Given the description of an element on the screen output the (x, y) to click on. 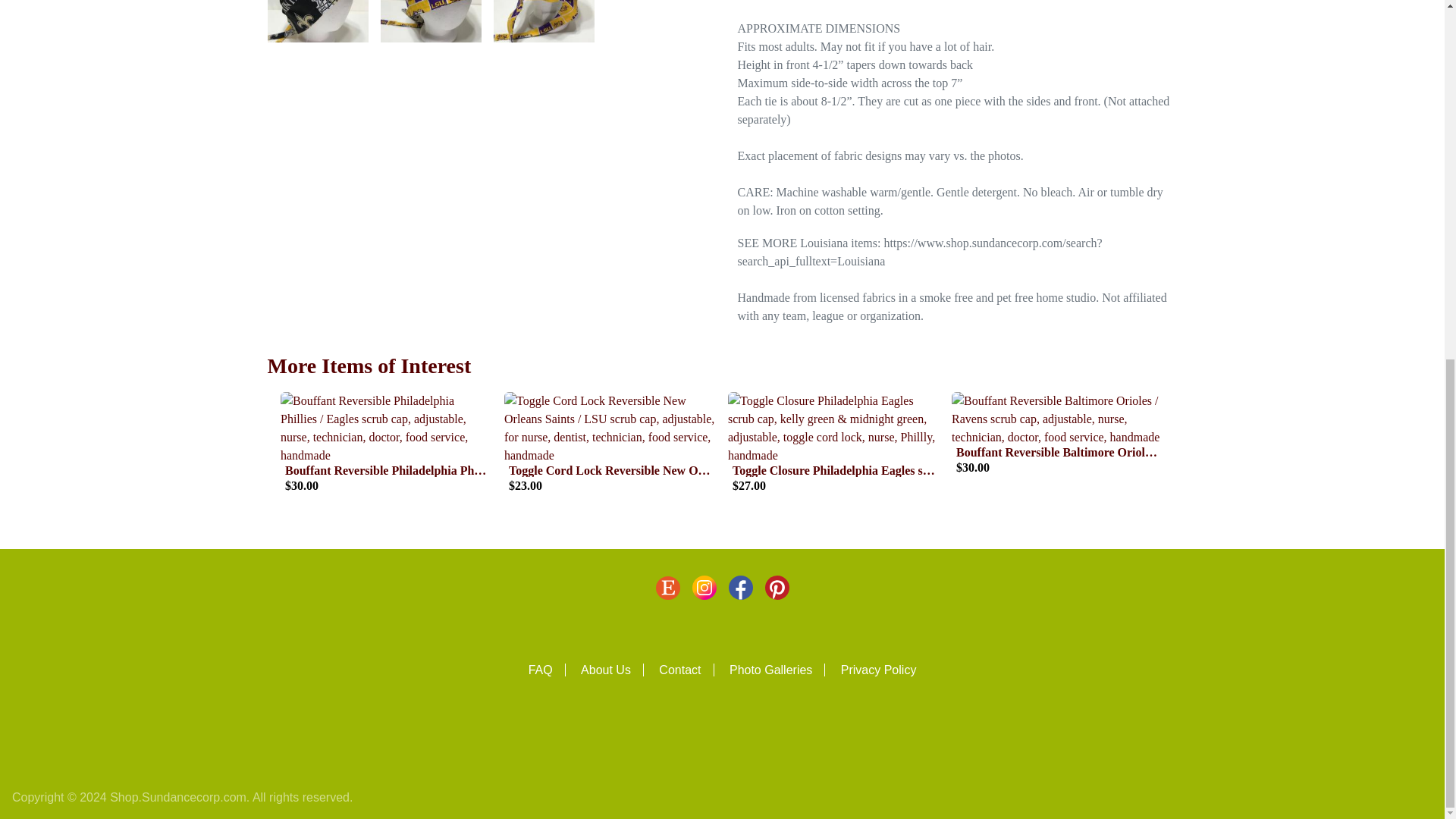
About Us (611, 669)
Privacy Policy (879, 669)
FAQ (547, 669)
Contact (686, 669)
Photo Galleries (777, 669)
